Given the description of an element on the screen output the (x, y) to click on. 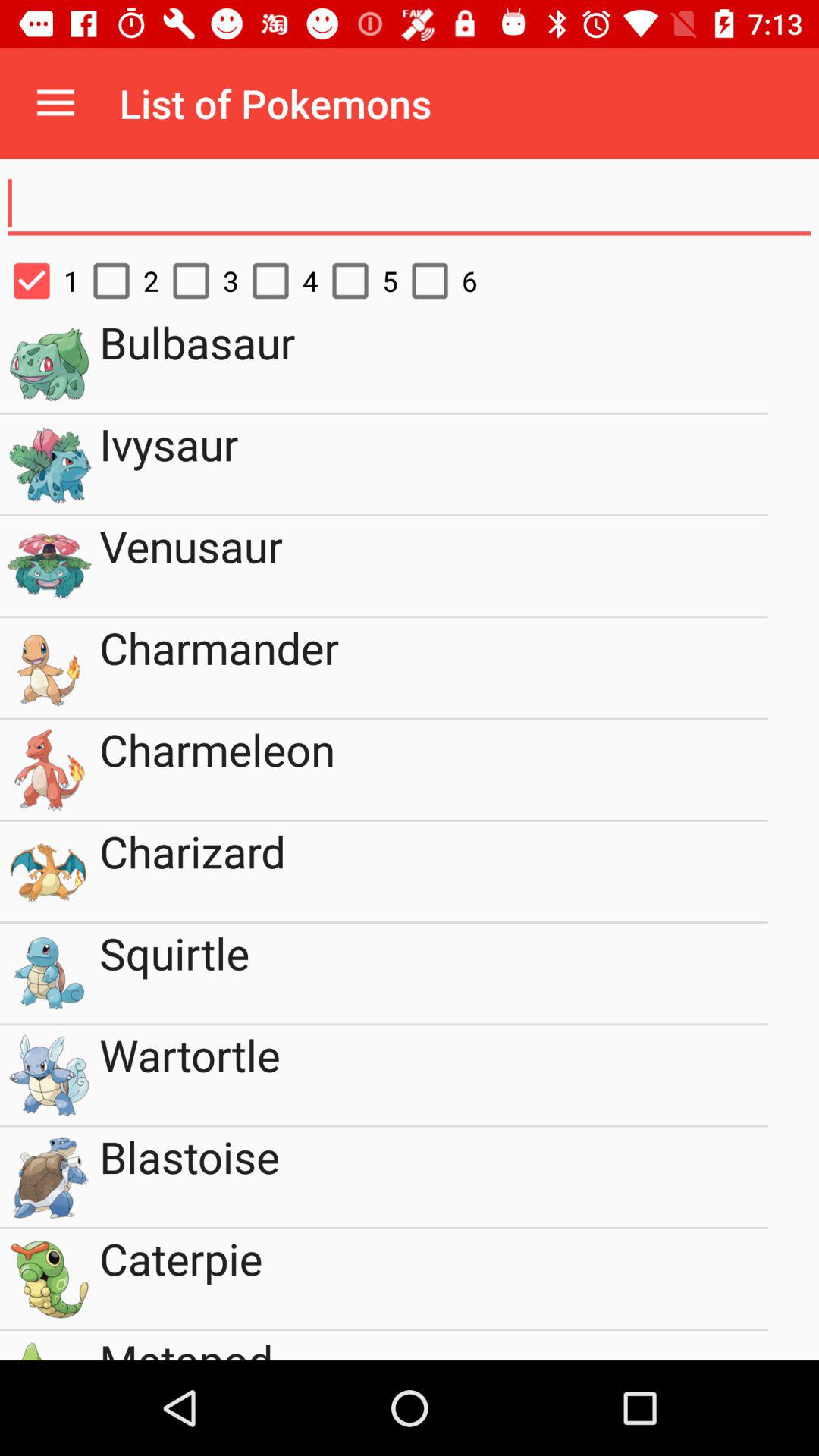
turn on venusaur (433, 565)
